Given the description of an element on the screen output the (x, y) to click on. 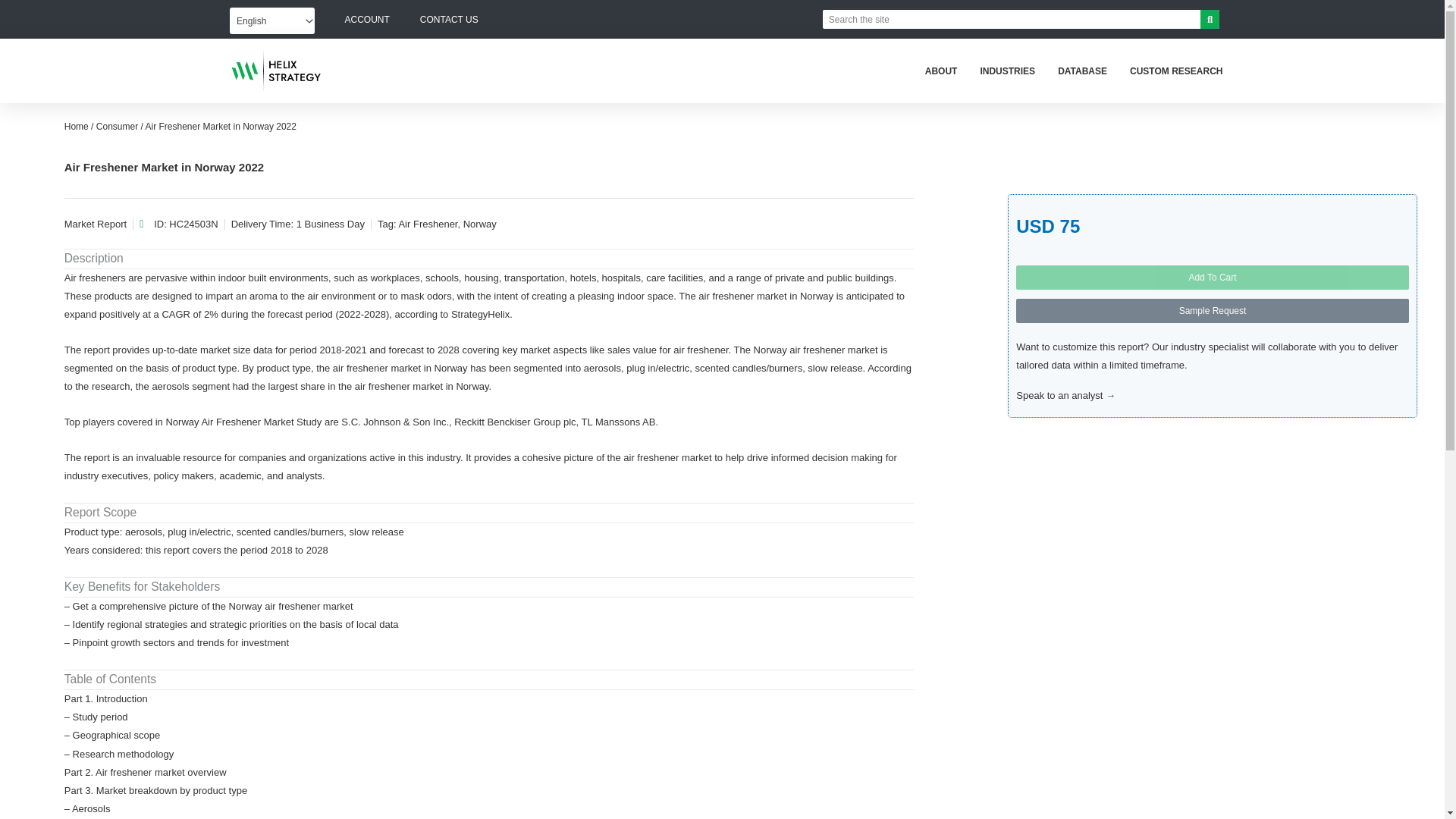
English (265, 21)
CONTACT US (448, 19)
CUSTOM RESEARCH (1176, 71)
INDUSTRIES (1007, 71)
ABOUT (941, 71)
Search (1010, 18)
Search (1209, 18)
Search (1209, 18)
Sample Request (1212, 310)
Add To Cart (1212, 277)
